Given the description of an element on the screen output the (x, y) to click on. 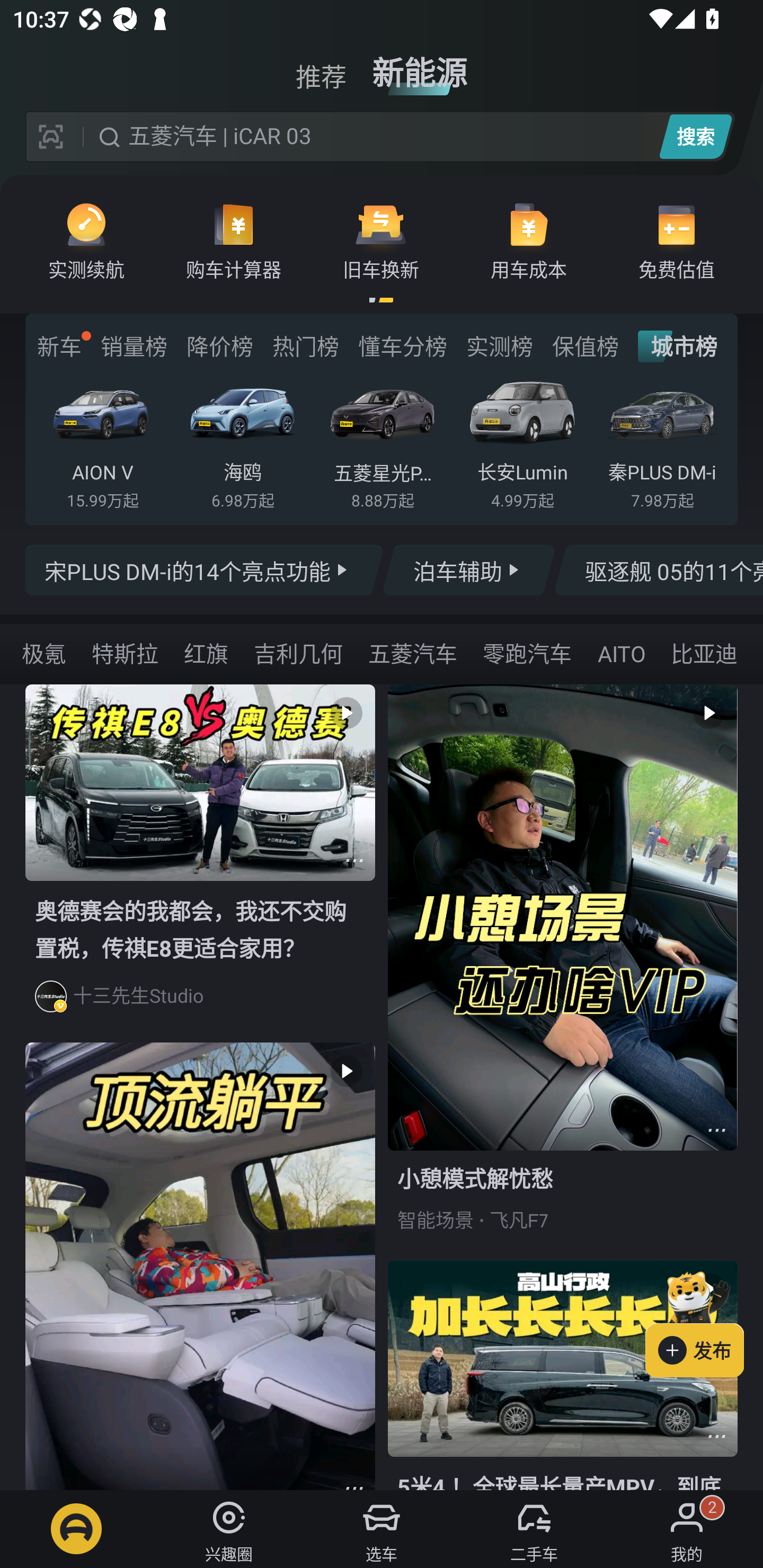
推荐 (321, 65)
新能源 (419, 65)
搜索 (695, 136)
实测续航 (86, 240)
购车计算器 (233, 240)
旧车换新 (380, 240)
用车成本 (528, 240)
免费估值 (676, 240)
新车 (59, 346)
销量榜 (133, 346)
降价榜 (219, 346)
热门榜 (305, 346)
懂车分榜 (402, 346)
实测榜 (499, 346)
保值榜 (585, 346)
城市榜 (677, 346)
AION V 15.99万起 (102, 442)
海鸥 6.98万起 (242, 442)
五菱星光PHEV 8.88万起 (382, 442)
长安Lumin 4.99万起 (522, 442)
秦PLUS DM-i 7.98万起 (662, 442)
宋PLUS DM-i的14个亮点功能 (204, 569)
泊车辅助 (468, 569)
驱逐舰 05的11个亮点功能 (658, 569)
极氪 (43, 652)
特斯拉 (124, 652)
红旗 (205, 652)
吉利几何 (298, 652)
五菱汽车 (412, 652)
零跑汽车 (527, 652)
AITO (620, 652)
比亚迪 (703, 652)
  奥德赛会的我都会，我还不交购置税，传祺E8更适合家用？ 十三先生Studio (200, 862)
  小憩模式解忧愁 智能场景 飞凡F7 (562, 971)
 (354, 860)
  (200, 1265)
 (716, 1130)
飞凡F7 (518, 1220)
  5米4 ！全球最长量产MPV，到底好不好开？ (562, 1374)
发布 (704, 1320)
 (716, 1436)
 兴趣圈 (228, 1528)
 选车 (381, 1528)
 二手车 (533, 1528)
 我的 (686, 1528)
